Given the description of an element on the screen output the (x, y) to click on. 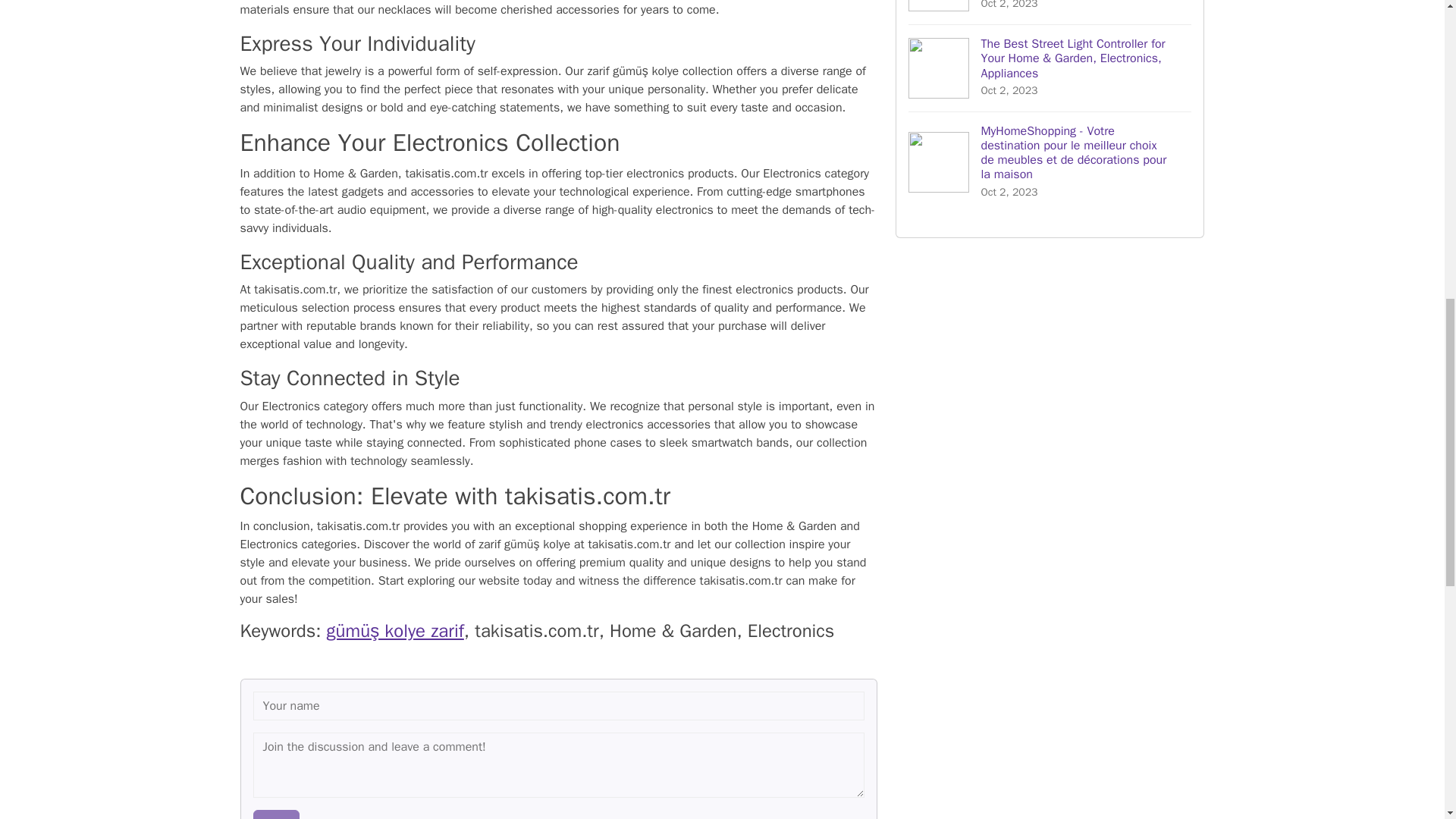
Send (276, 814)
Send (276, 814)
